Given the description of an element on the screen output the (x, y) to click on. 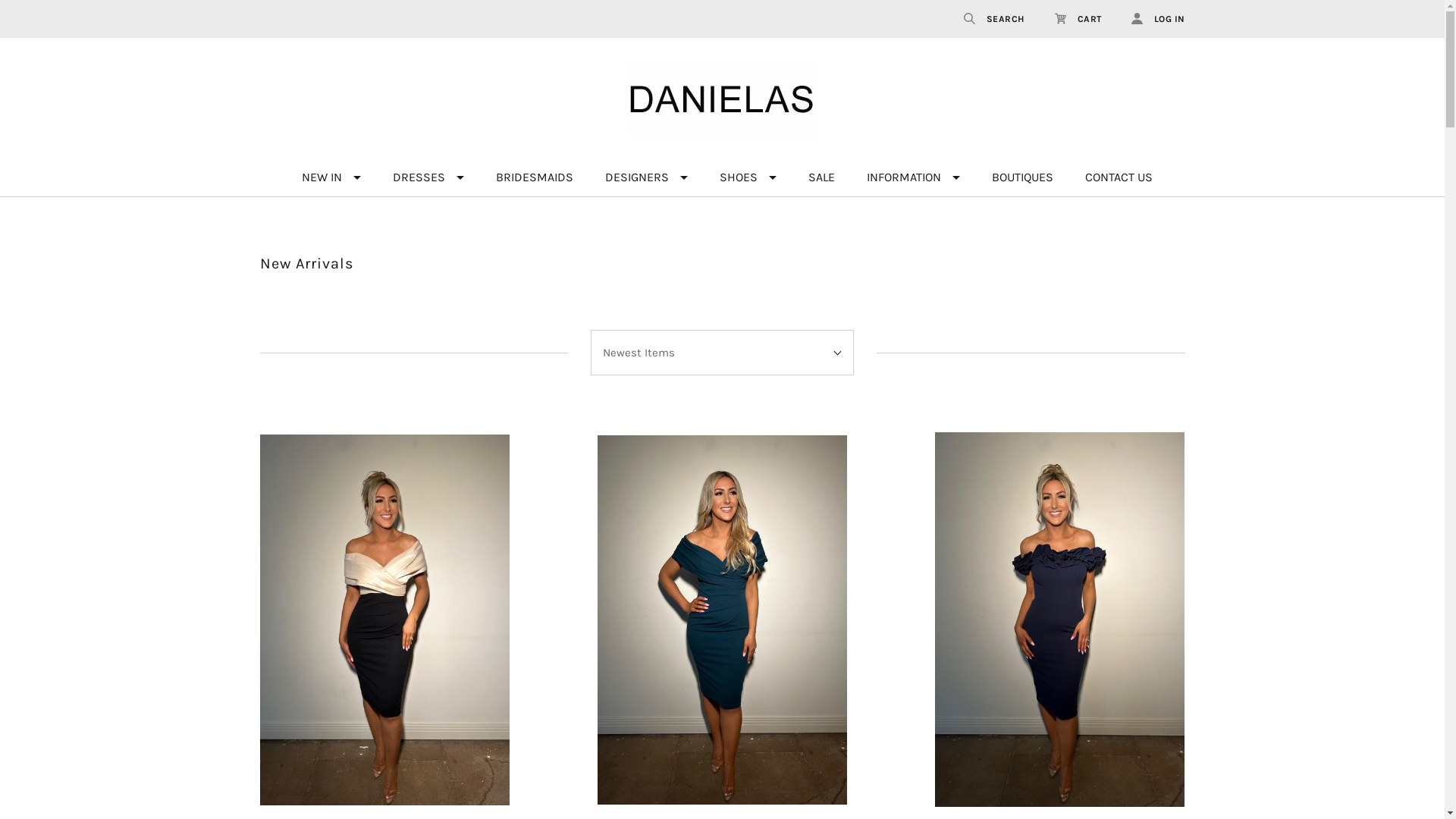
NEW IN Element type: text (330, 177)
LOG IN Element type: text (1150, 18)
CONTACT US Element type: text (1118, 177)
HAZEL MIDI NAVY  Element type: hover (1058, 619)
COCO MIDI Element type: hover (384, 619)
SHOES Element type: text (747, 177)
SEARCH Element type: text (992, 18)
DRESSES Element type: text (427, 177)
CART Element type: text (1077, 18)
BRIDESMAIDS Element type: text (533, 177)
SALE Element type: text (820, 177)
INFORMATION Element type: text (913, 177)
BOUTIQUES Element type: text (1021, 177)
COCO MIDI EMERALD Element type: hover (722, 619)
DESIGNERS Element type: text (645, 177)
